Given the description of an element on the screen output the (x, y) to click on. 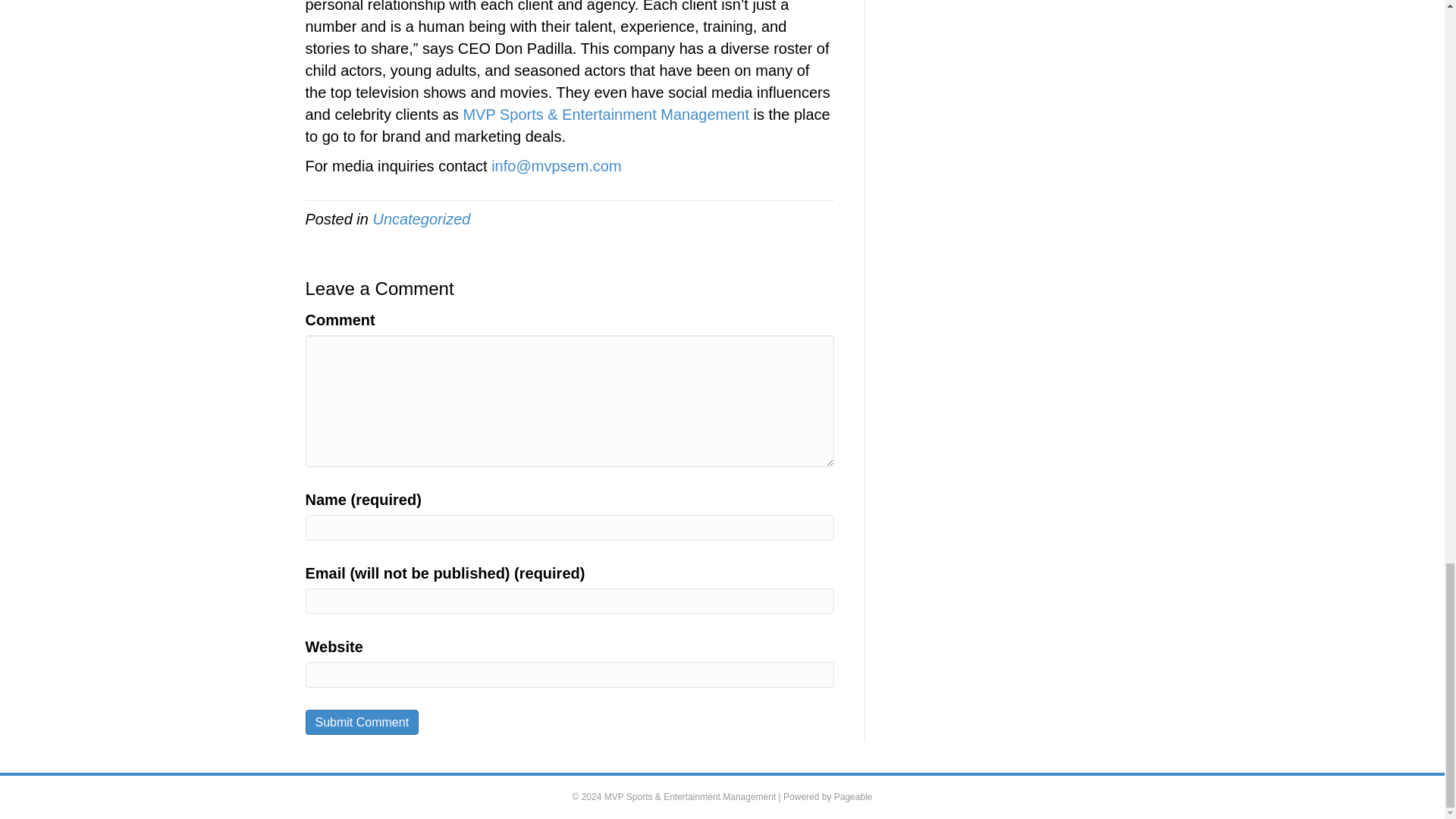
Submit Comment (361, 722)
Uncategorized (421, 218)
Pageable Marketing Websites (853, 796)
Submit Comment (361, 722)
Pageable (853, 796)
